Given the description of an element on the screen output the (x, y) to click on. 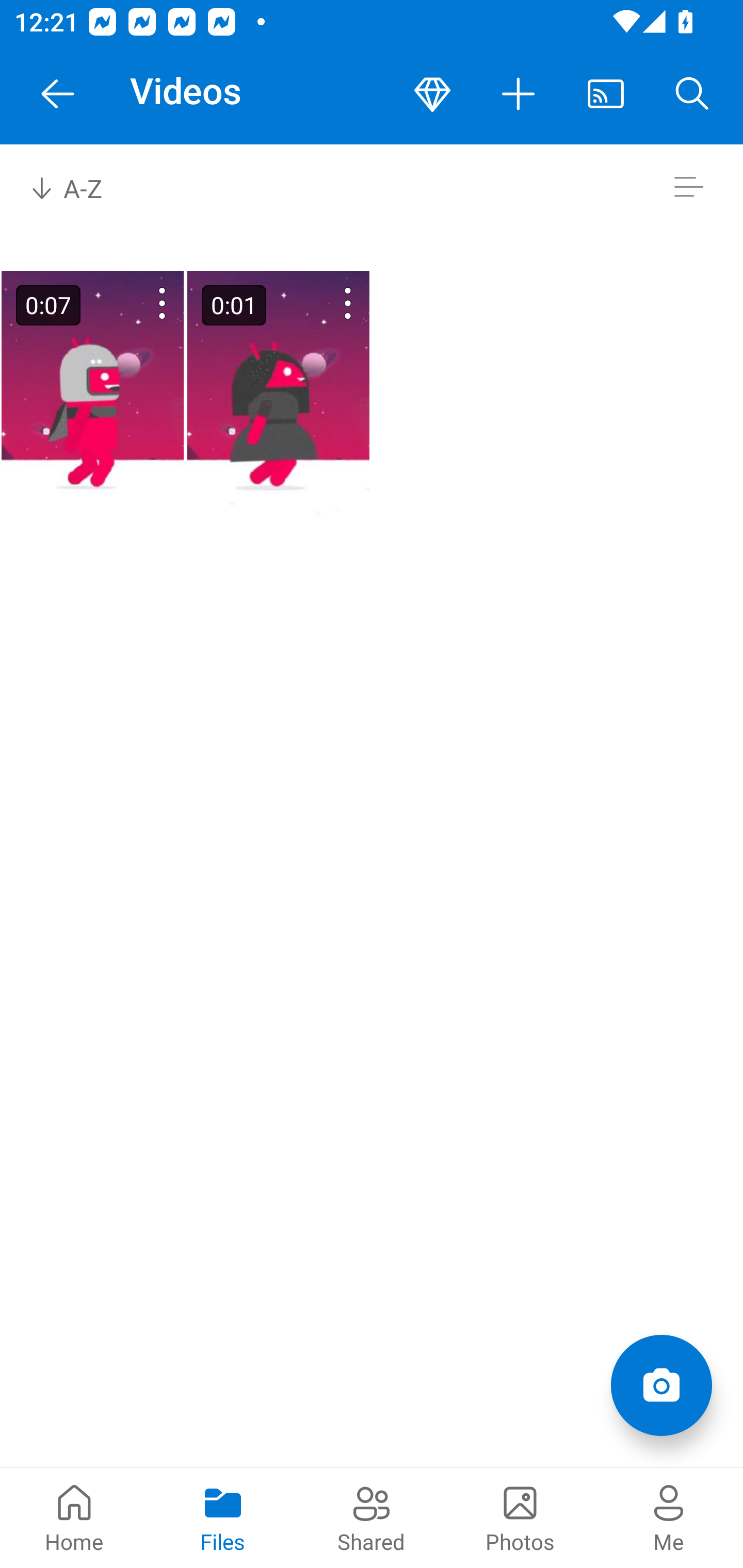
Navigate Up (57, 93)
Cast. Disconnected (605, 93)
Premium button (432, 93)
More actions button (518, 93)
Search button (692, 93)
A-Z Sort by combo box, sort by name, A to Z (80, 187)
Switch to list view (688, 187)
TestVideo commands (136, 303)
VID_20240428_121708 commands (322, 303)
Add items Scan (660, 1385)
Home pivot Home (74, 1517)
Shared pivot Shared (371, 1517)
Photos pivot Photos (519, 1517)
Me pivot Me (668, 1517)
